Given the description of an element on the screen output the (x, y) to click on. 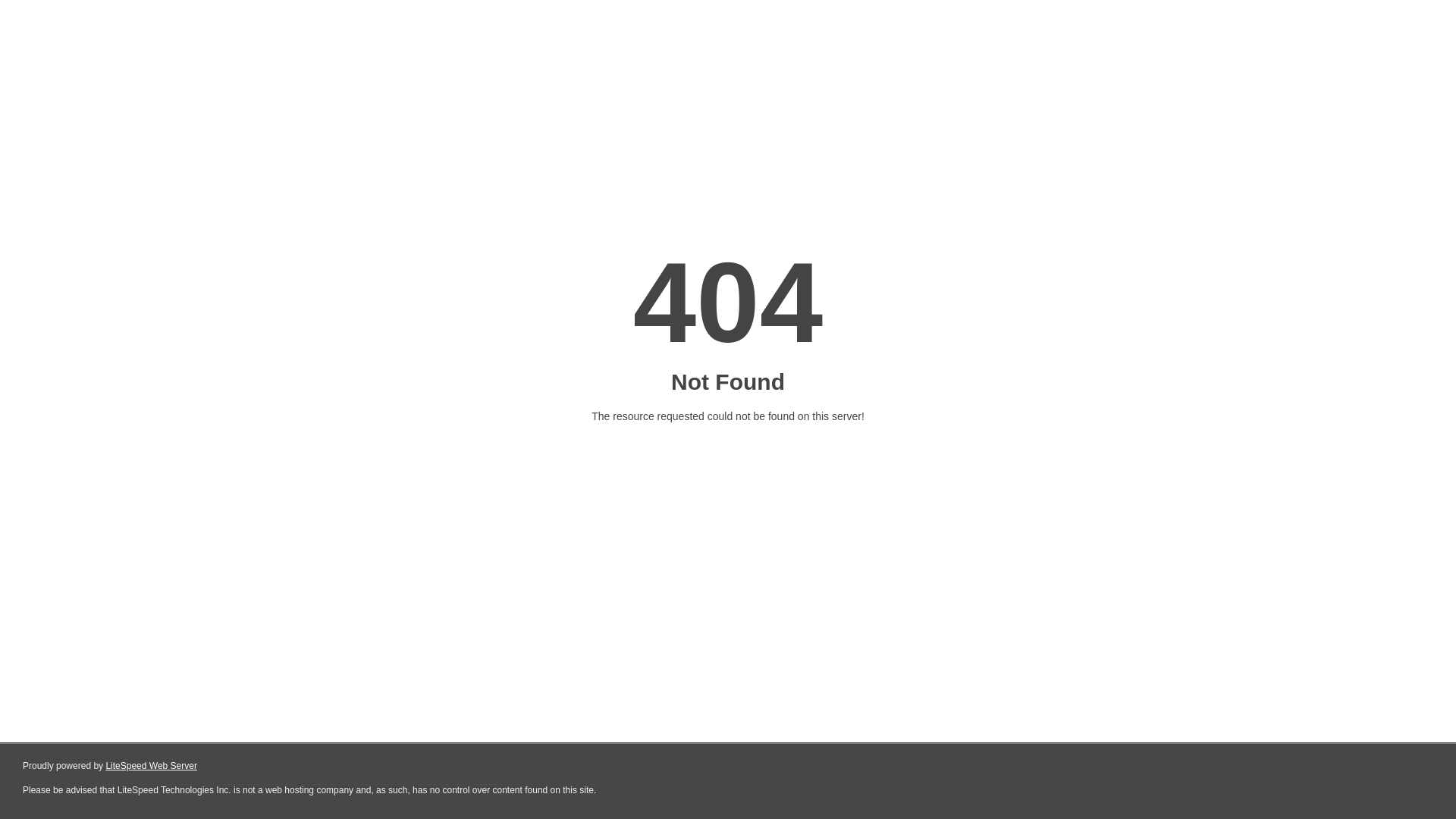
LiteSpeed Web Server (150, 765)
